Given the description of an element on the screen output the (x, y) to click on. 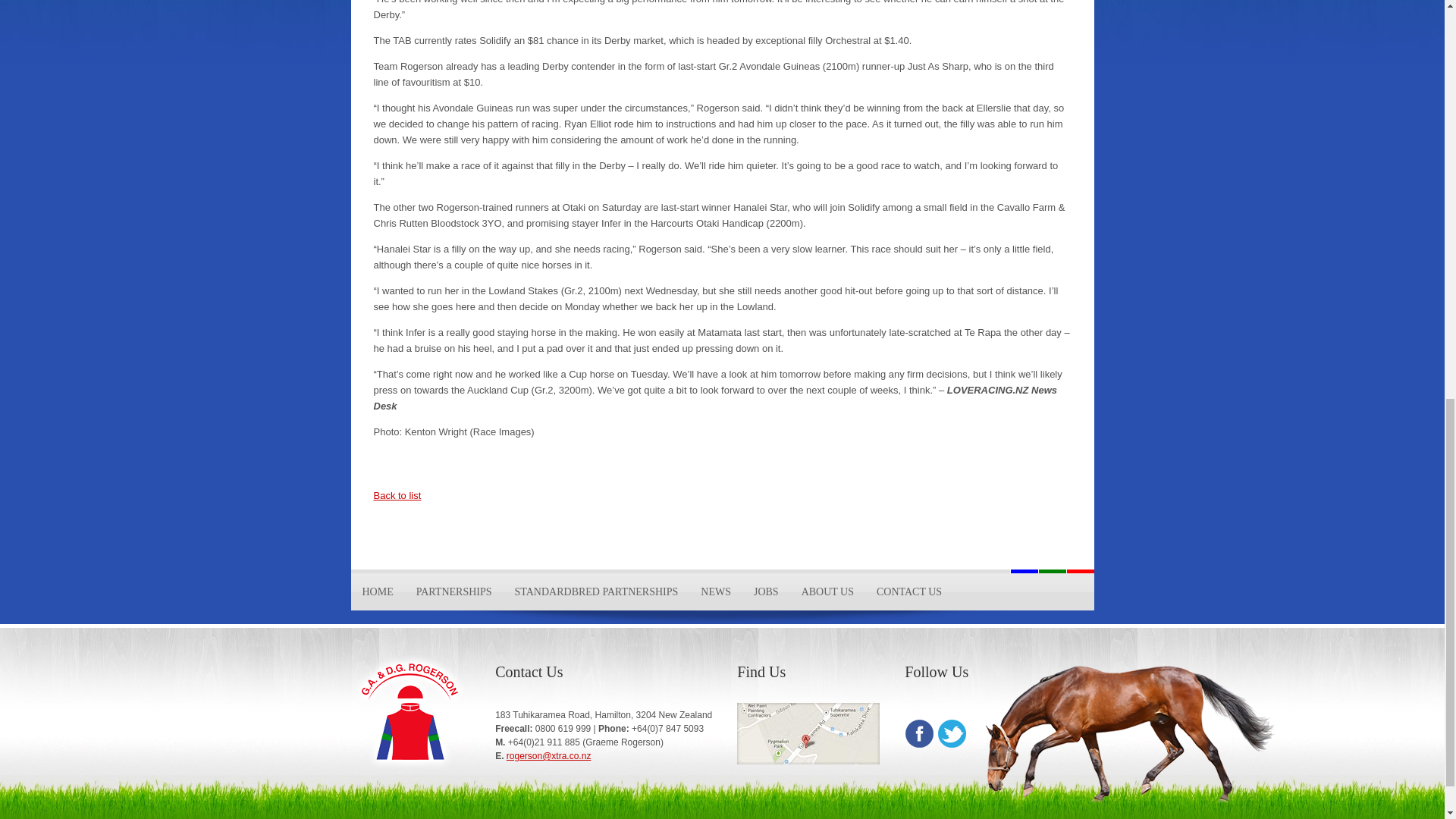
CONTACT US (908, 591)
PARTNERSHIPS (453, 591)
STANDARDBRED PARTNERSHIPS (596, 591)
ABOUT US (827, 591)
JOBS (766, 591)
HOME (377, 591)
Back to list (396, 495)
NEWS (715, 591)
